Given the description of an element on the screen output the (x, y) to click on. 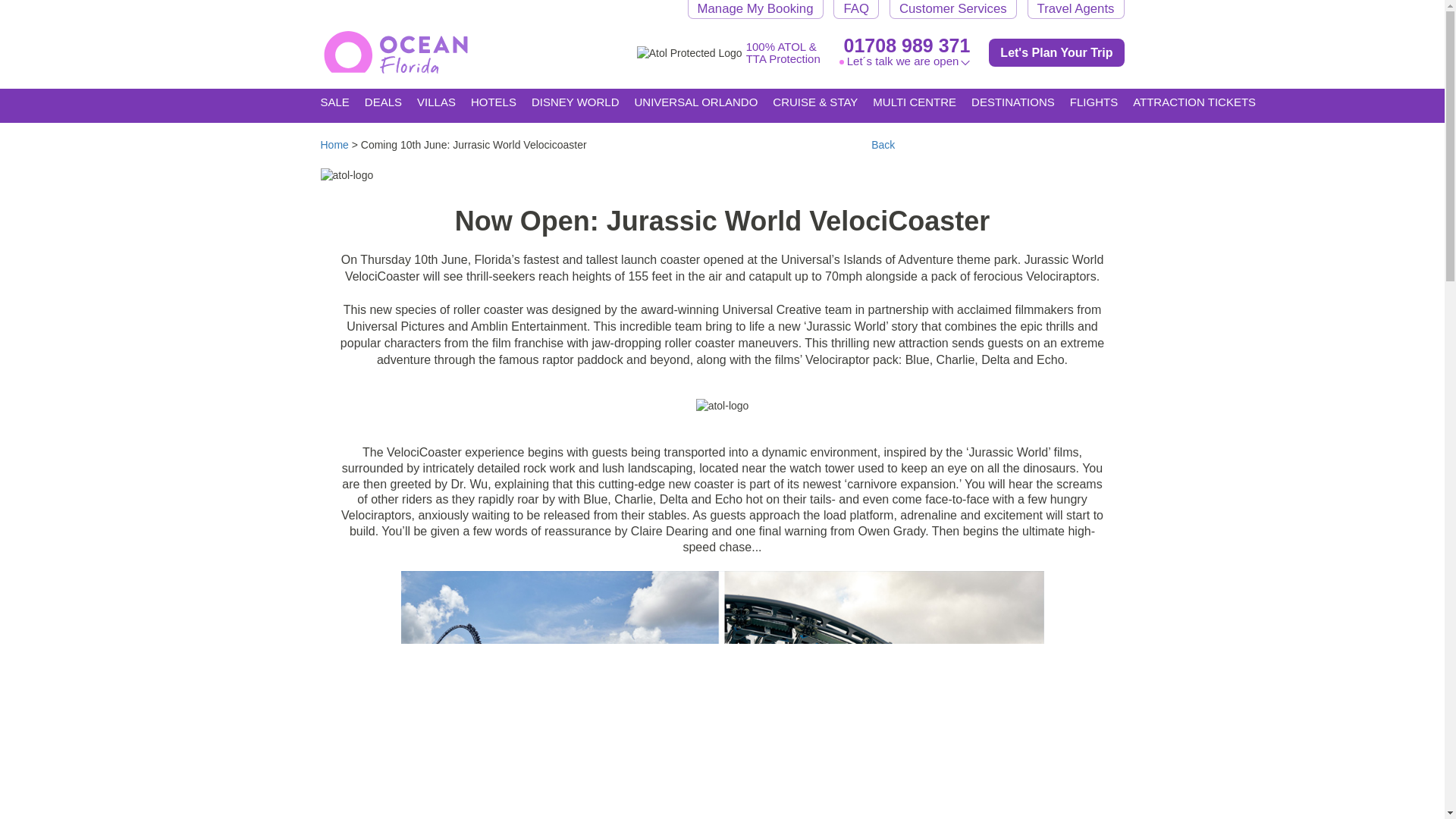
Let's Plan Your Trip (1056, 52)
Home (333, 144)
DEALS (383, 105)
FAQ (855, 9)
SALE (334, 100)
Customer Services (952, 9)
VILLAS (435, 105)
Travel Agents (1075, 9)
Manage My Booking (755, 9)
